Given the description of an element on the screen output the (x, y) to click on. 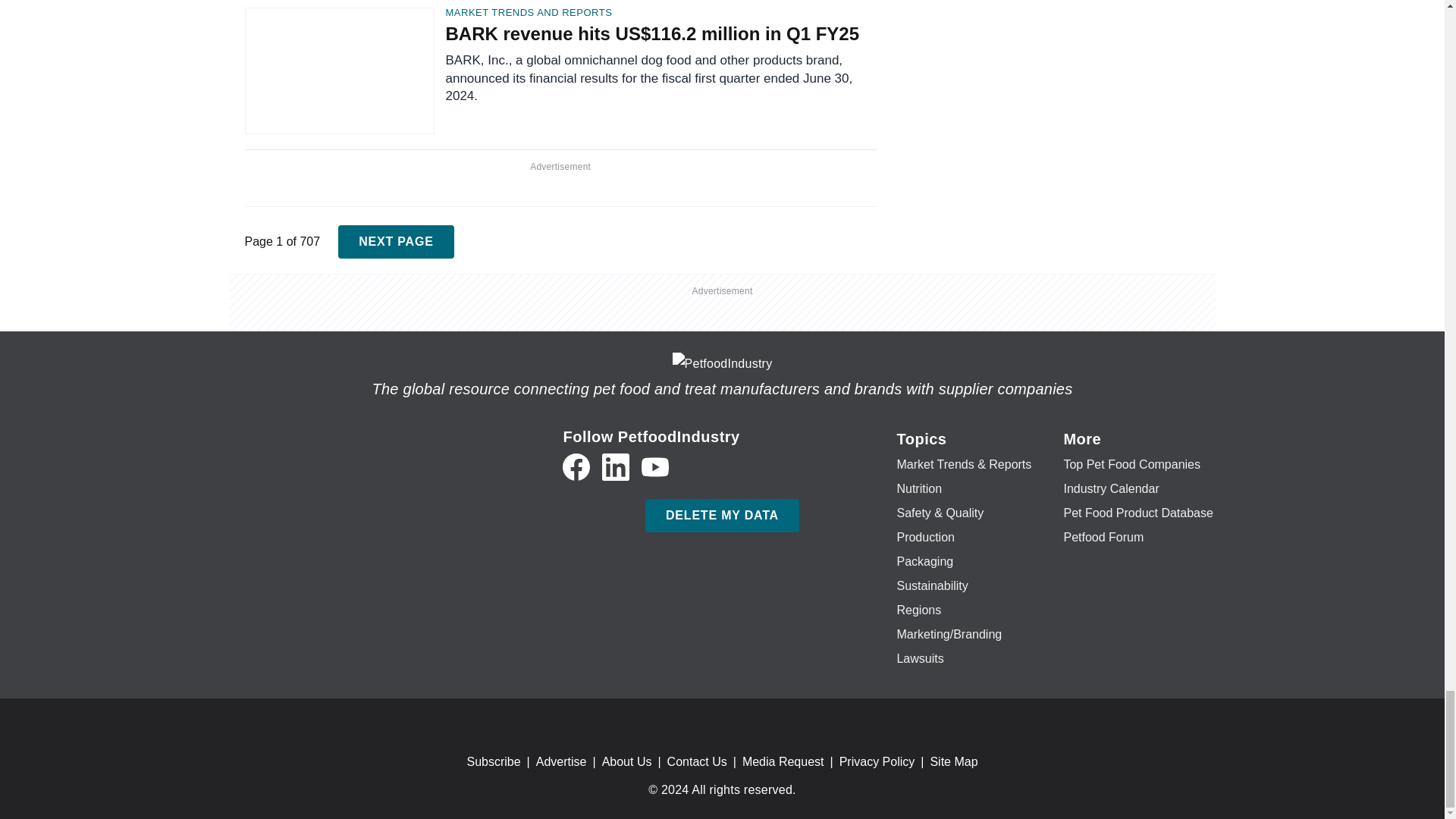
LinkedIn icon (615, 466)
YouTube icon (655, 466)
Facebook icon (575, 466)
